Given the description of an element on the screen output the (x, y) to click on. 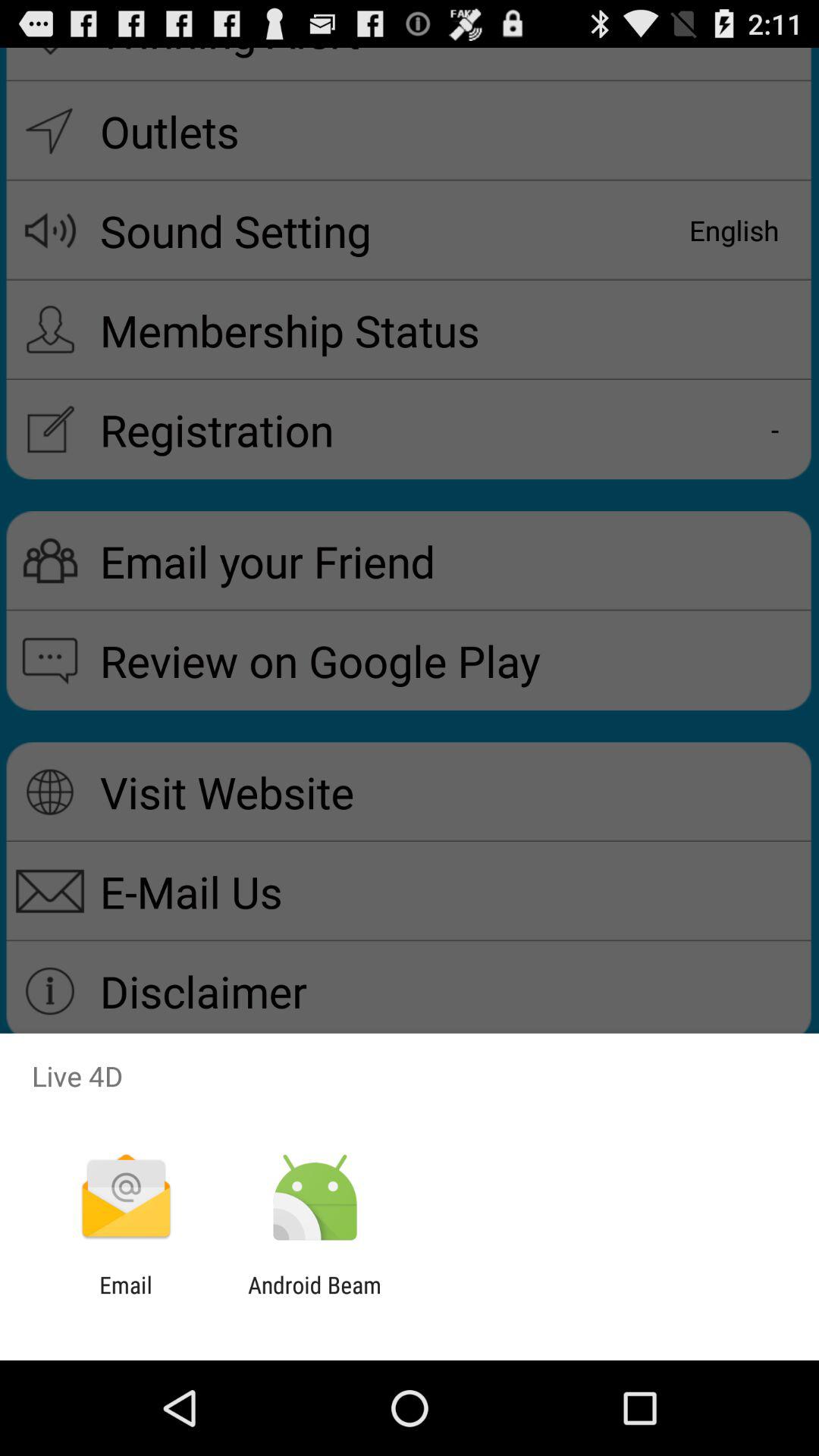
press android beam app (314, 1298)
